Given the description of an element on the screen output the (x, y) to click on. 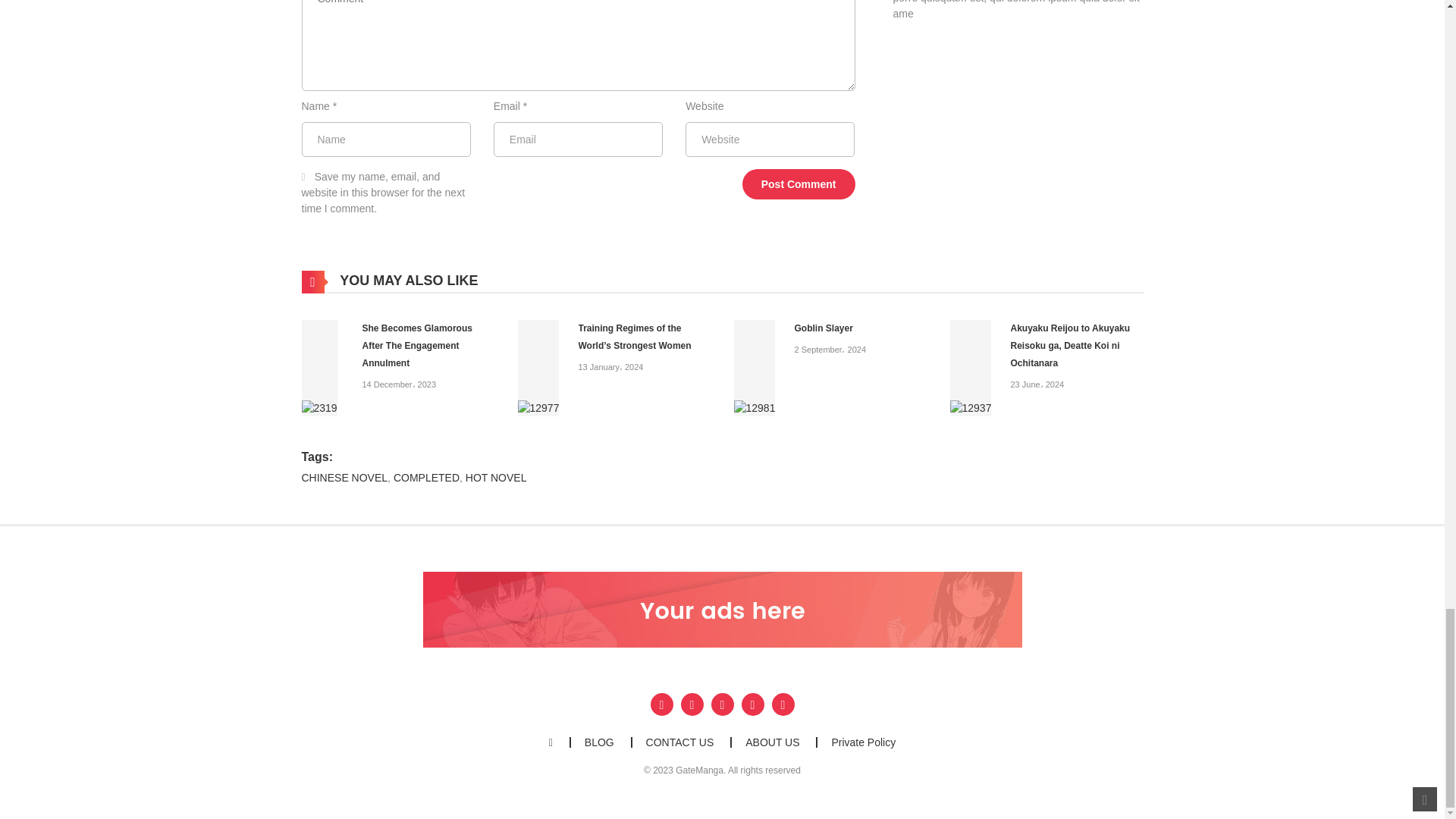
She Becomes Glamorous After The Engagement Annulment (416, 345)
Goblin Slayer (754, 367)
She Becomes Glamorous After The Engagement Annulment (319, 367)
Post Comment (799, 183)
Goblin Slayer (823, 327)
